Given the description of an element on the screen output the (x, y) to click on. 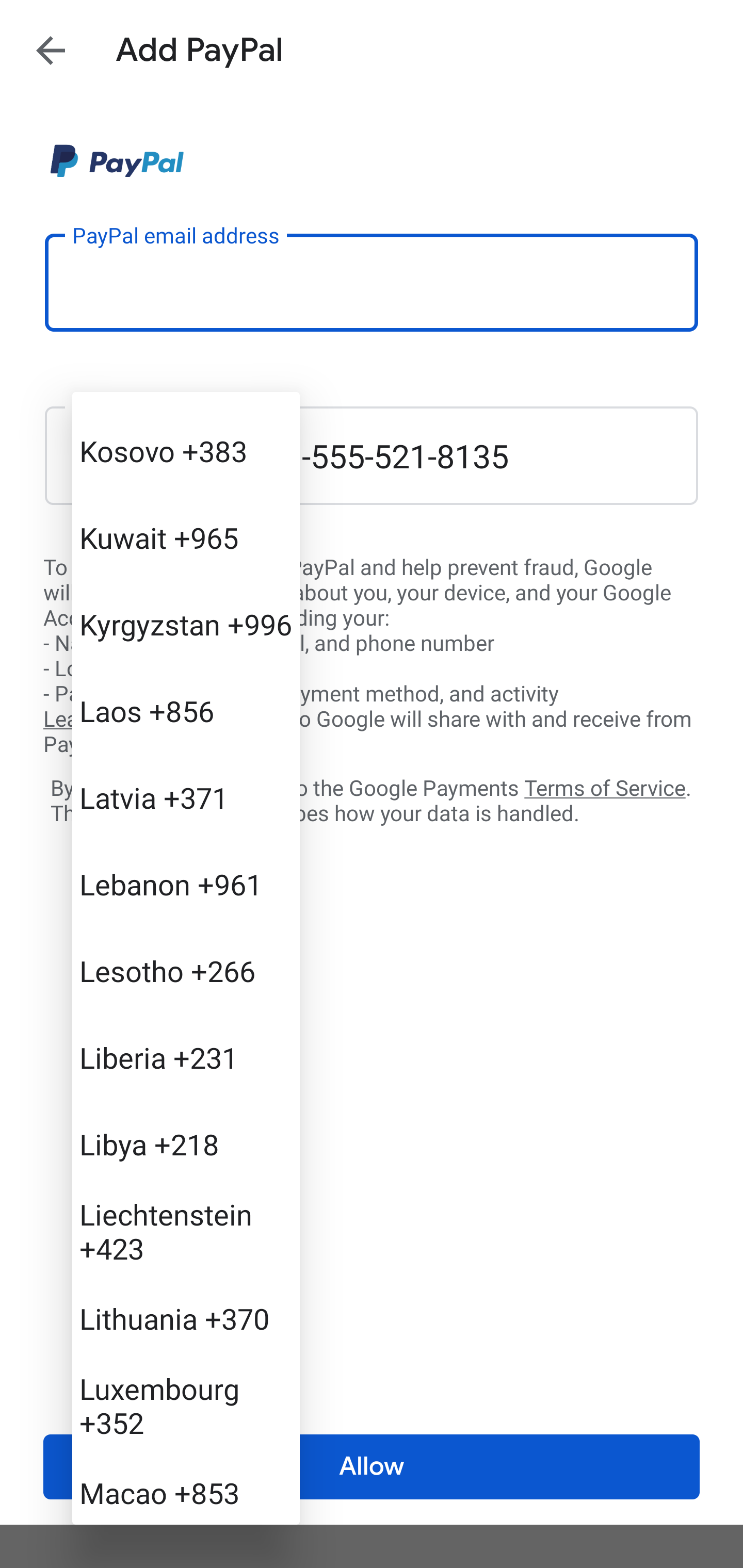
Kosovo +383 (185, 450)
Kuwait +965 (185, 536)
Kyrgyzstan +996 (185, 623)
Laos +856 (185, 710)
Latvia +371 (185, 797)
Lebanon +961 (185, 883)
Lesotho +266 (185, 970)
Liberia +231 (185, 1057)
Libya +218 (185, 1143)
Liechtenstein +423 (185, 1230)
Lithuania +370 (185, 1317)
Luxembourg +352 (185, 1404)
Macao +853 (185, 1486)
